Given the description of an element on the screen output the (x, y) to click on. 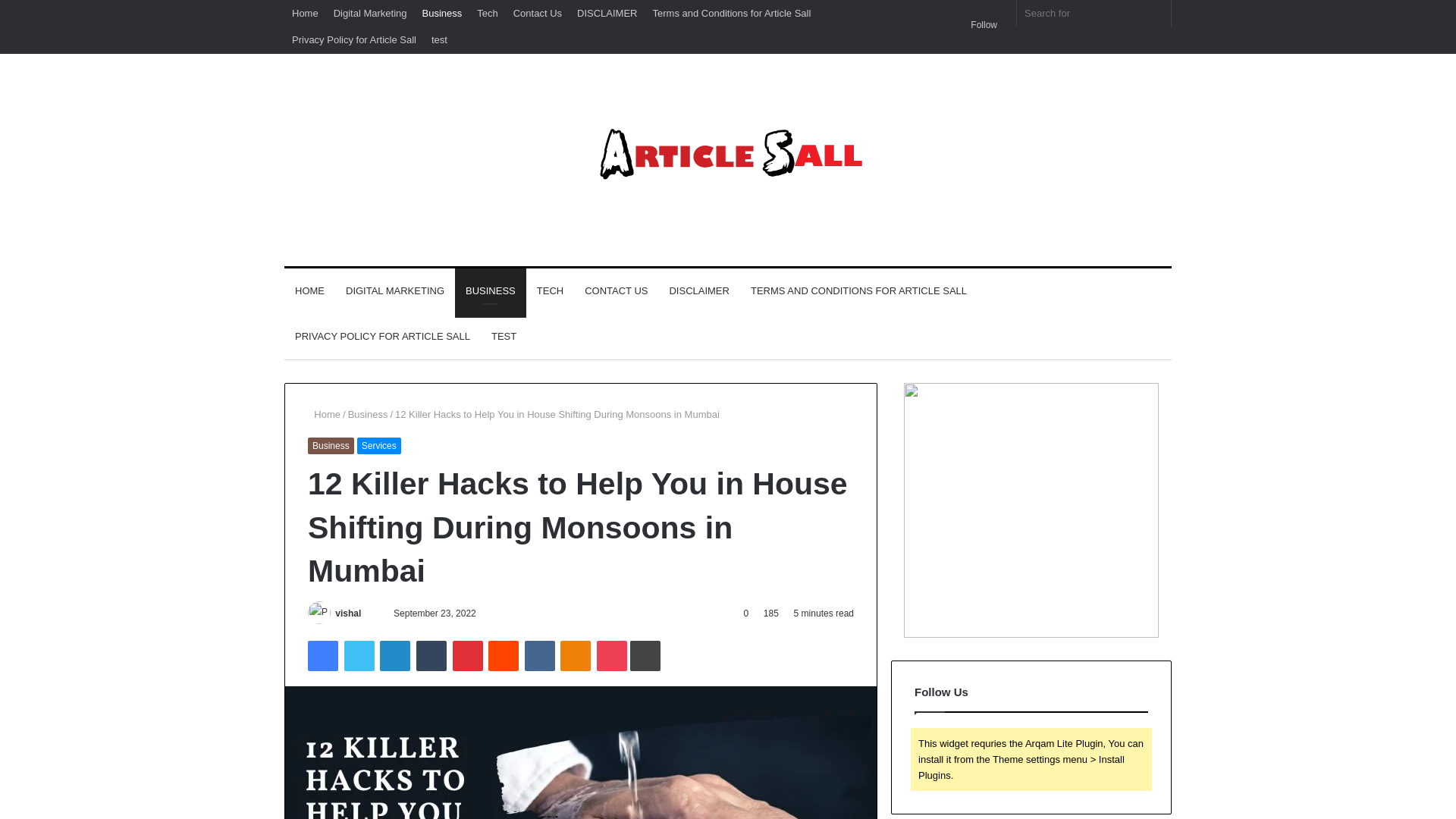
Follow (979, 25)
TECH (549, 290)
Privacy Policy for Article Sall (353, 39)
Home (323, 414)
Terms and Conditions for Article Sall (731, 13)
Article Sall (727, 159)
Twitter (358, 655)
Search for (1093, 13)
Random Article (973, 6)
vishal (347, 613)
